Given the description of an element on the screen output the (x, y) to click on. 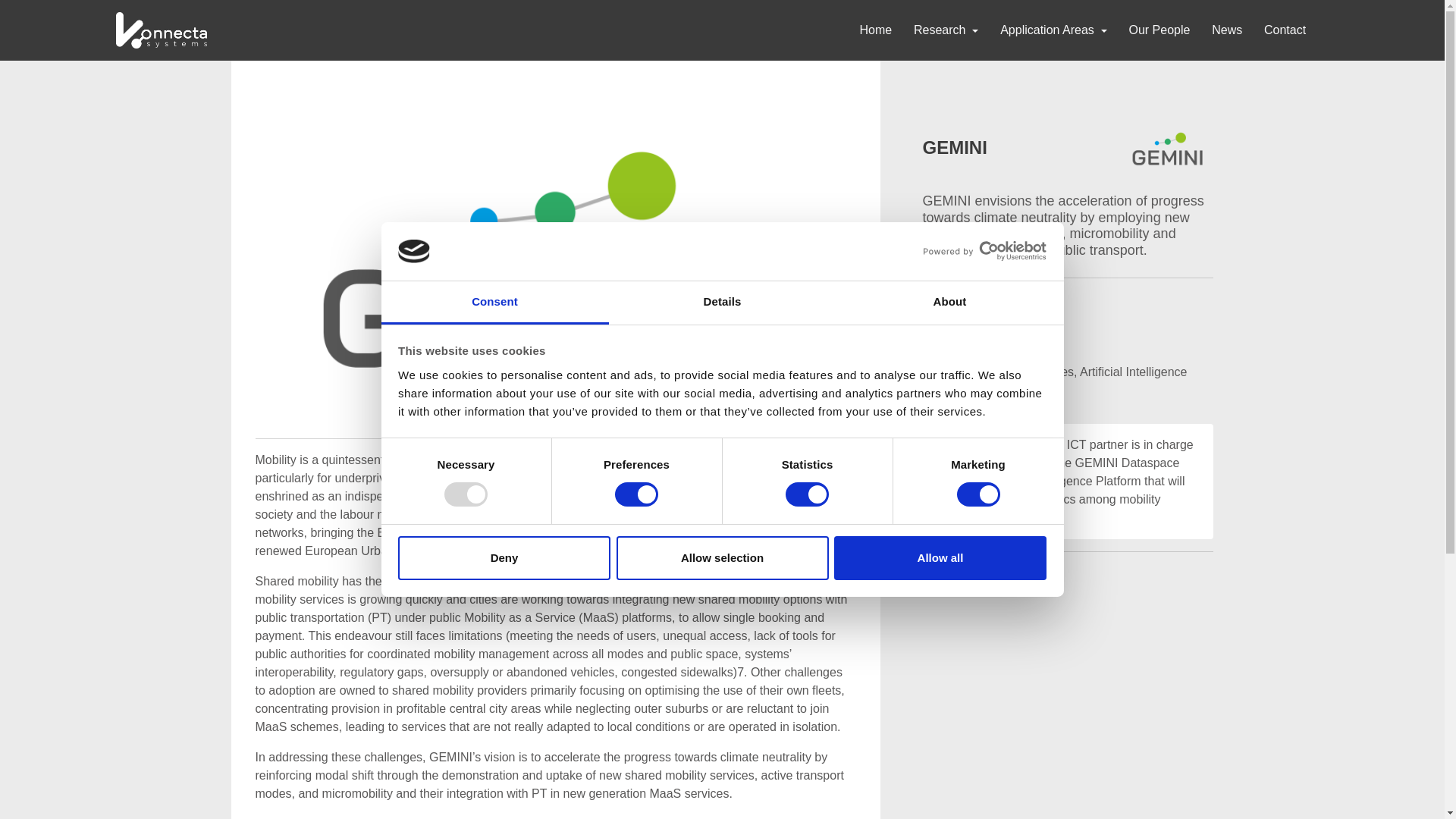
Deny (503, 557)
Allow all (940, 557)
Allow selection (721, 557)
Application Areas (1053, 30)
Consent (494, 302)
Home (875, 30)
Details (721, 302)
About (948, 302)
Research (945, 30)
